Given the description of an element on the screen output the (x, y) to click on. 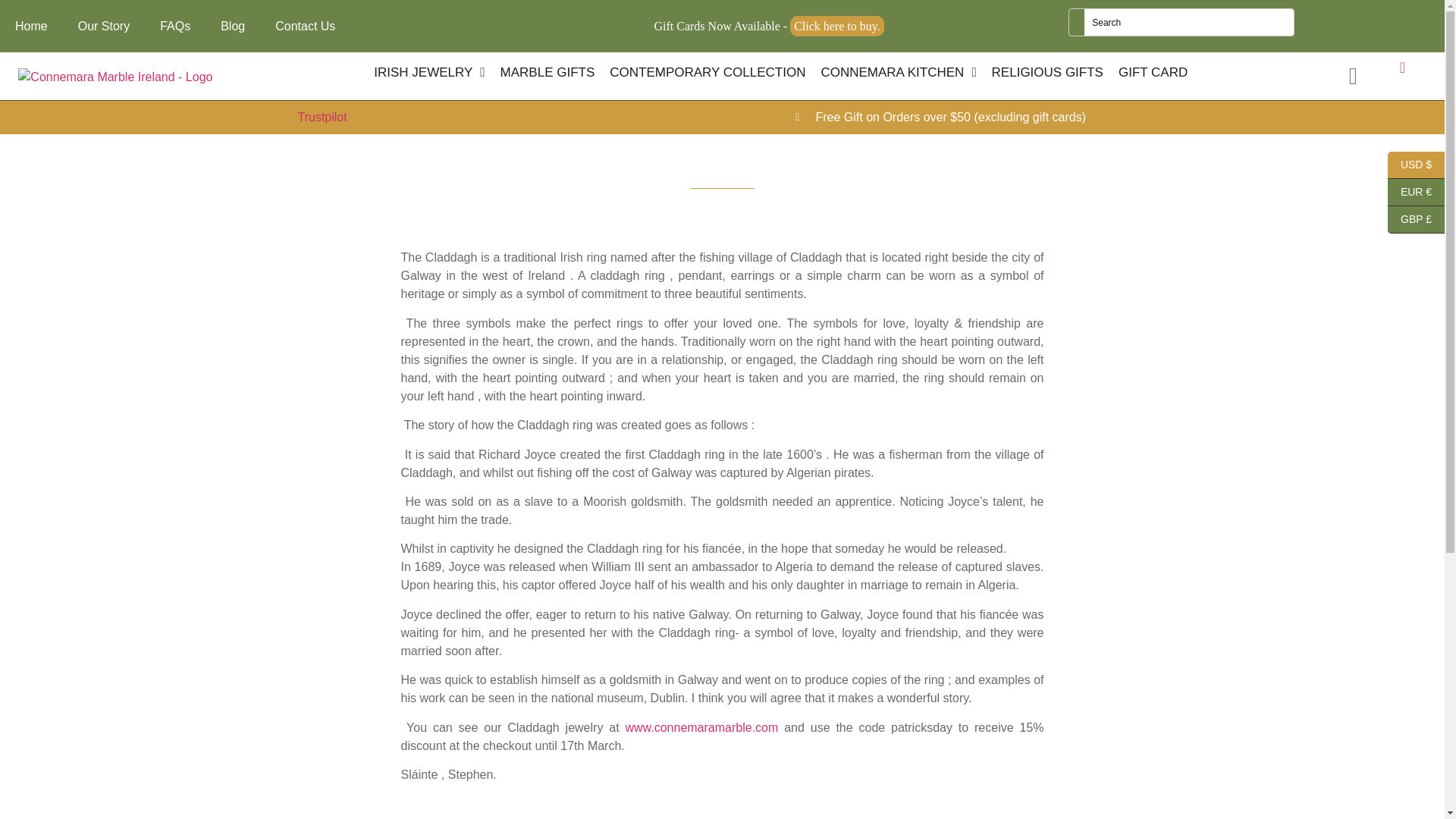
FAQs (174, 26)
CONNEMARA KITCHEN (898, 72)
Home (31, 26)
IRISH JEWELRY (429, 72)
Click here to buy. (836, 25)
Search (1189, 22)
Contact Us (305, 26)
MARBLE GIFTS (547, 72)
RELIGIOUS GIFTS (1047, 72)
GIFT CARD (1152, 72)
Our Story (103, 26)
Search (1189, 22)
CONTEMPORARY COLLECTION (707, 72)
Blog (232, 26)
